Given the description of an element on the screen output the (x, y) to click on. 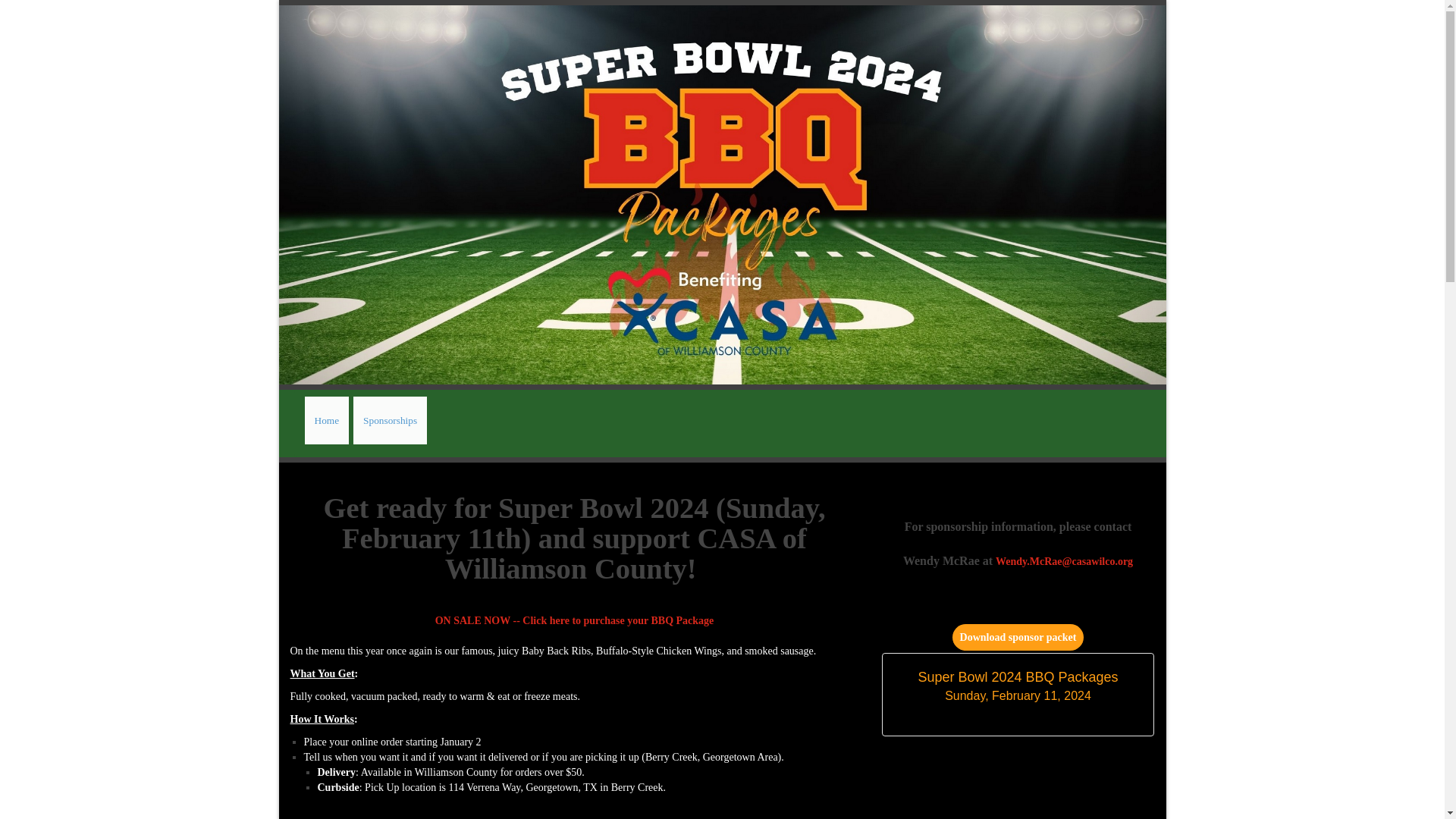
Download sponsor packet (1018, 636)
Home (326, 420)
Sponsorships (389, 420)
ON SALE NOW -- Click here to purchase your BBQ Package (574, 620)
